Given the description of an element on the screen output the (x, y) to click on. 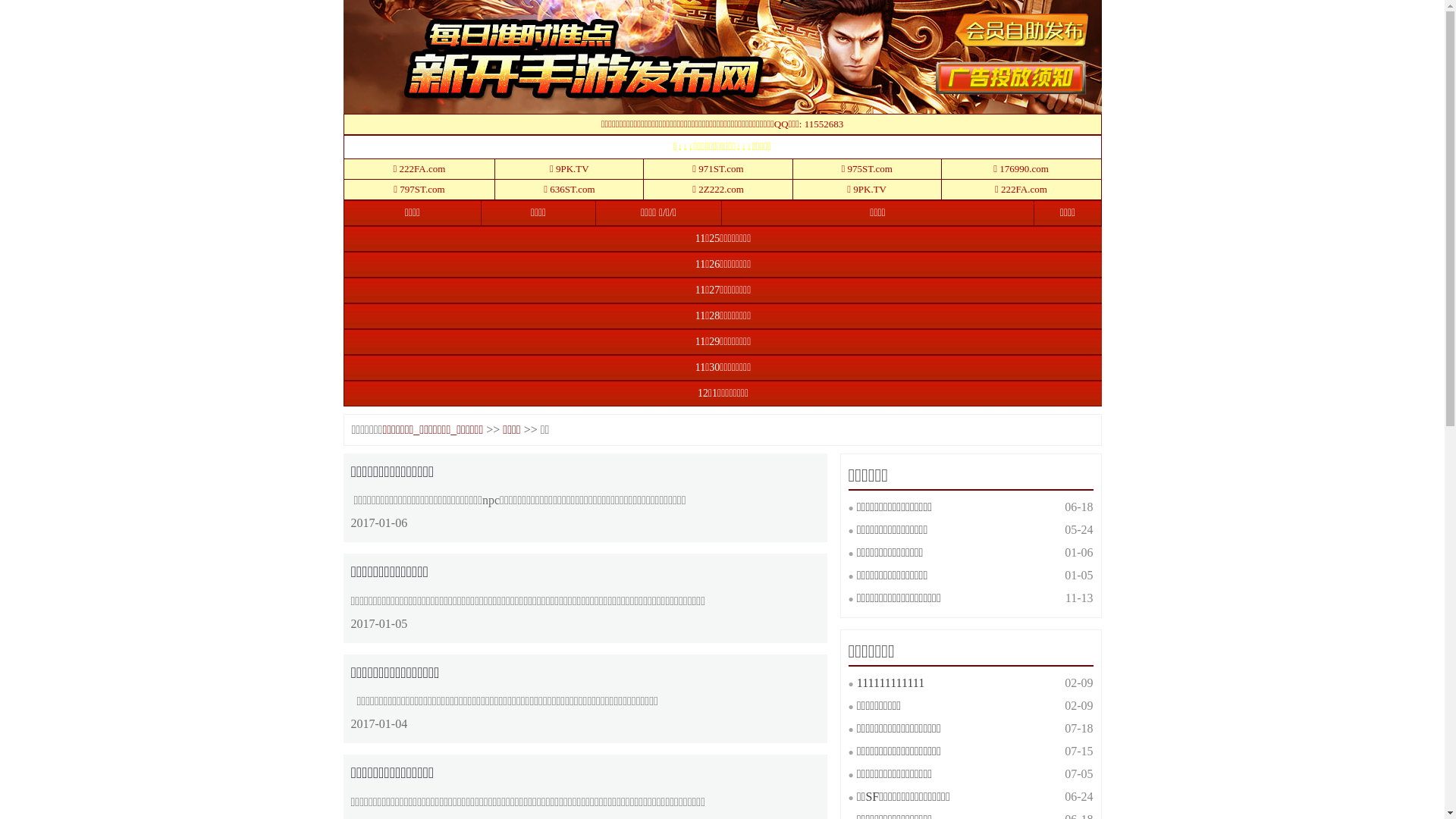
111111111111 Element type: text (890, 682)
